Given the description of an element on the screen output the (x, y) to click on. 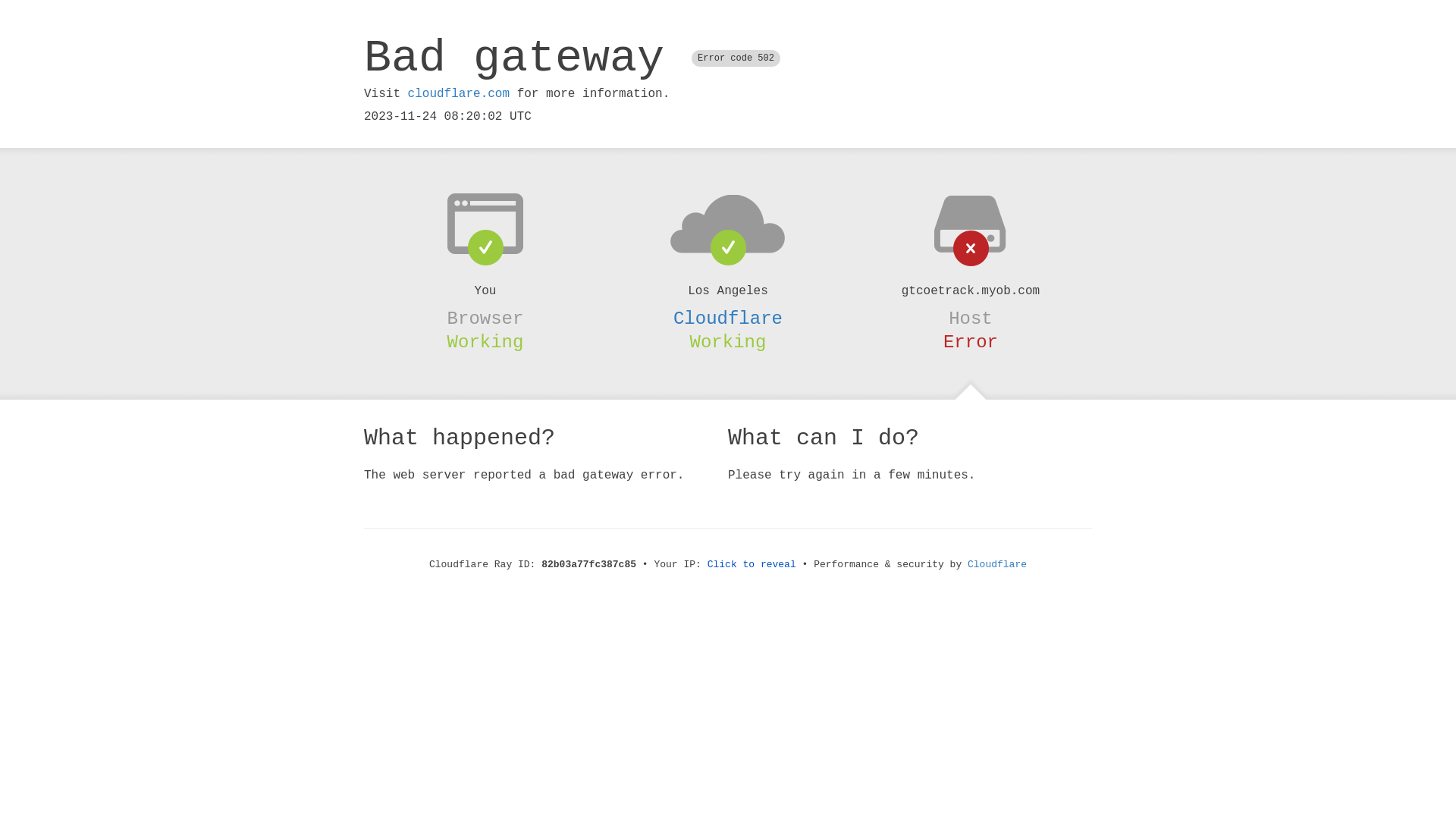
Cloudflare Element type: text (727, 318)
cloudflare.com Element type: text (458, 93)
Cloudflare Element type: text (996, 564)
Click to reveal Element type: text (751, 564)
